Given the description of an element on the screen output the (x, y) to click on. 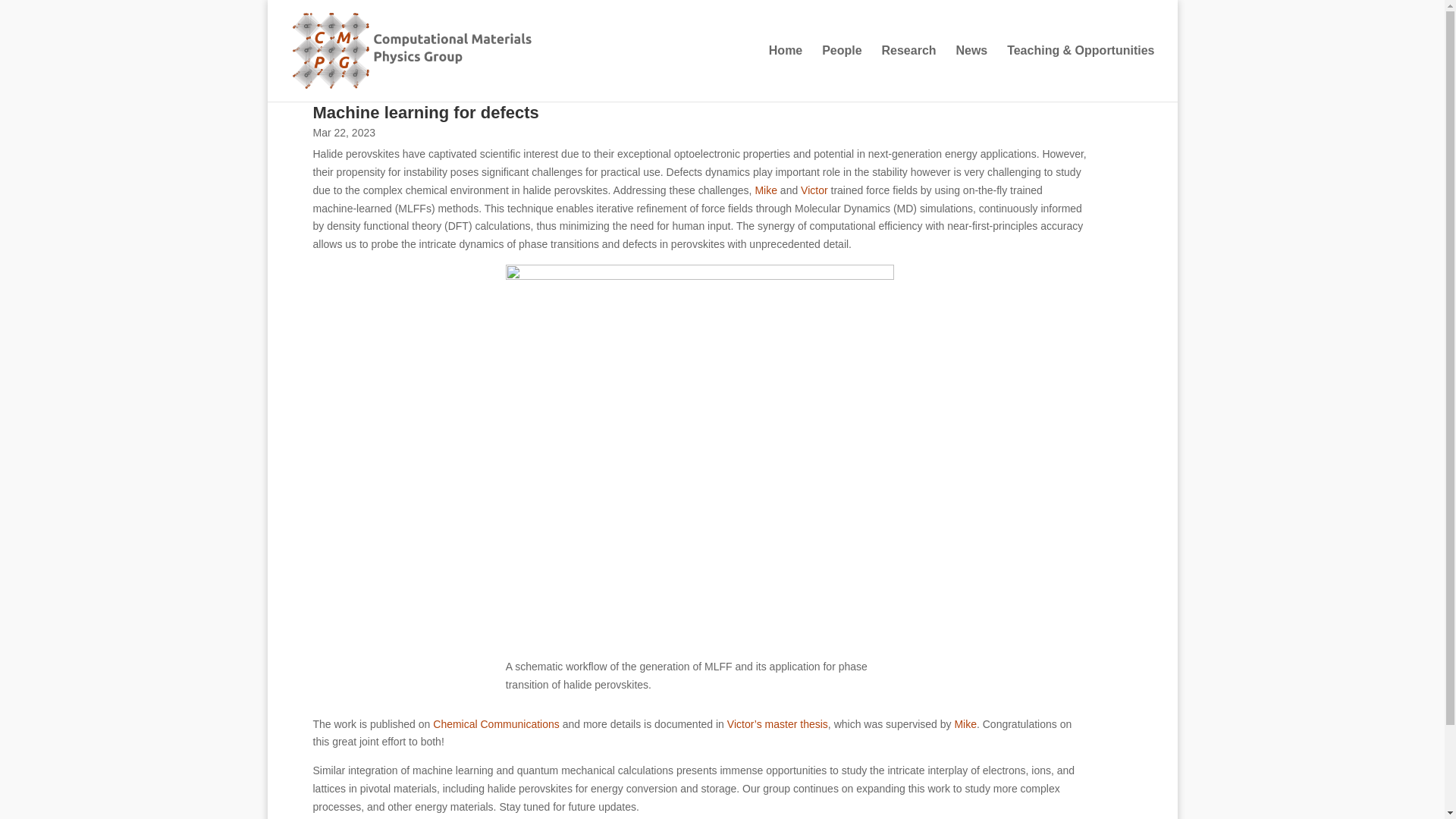
Mike (964, 724)
Research (908, 73)
Victor (814, 190)
Chemical Communications (495, 724)
Mike (765, 190)
